Given the description of an element on the screen output the (x, y) to click on. 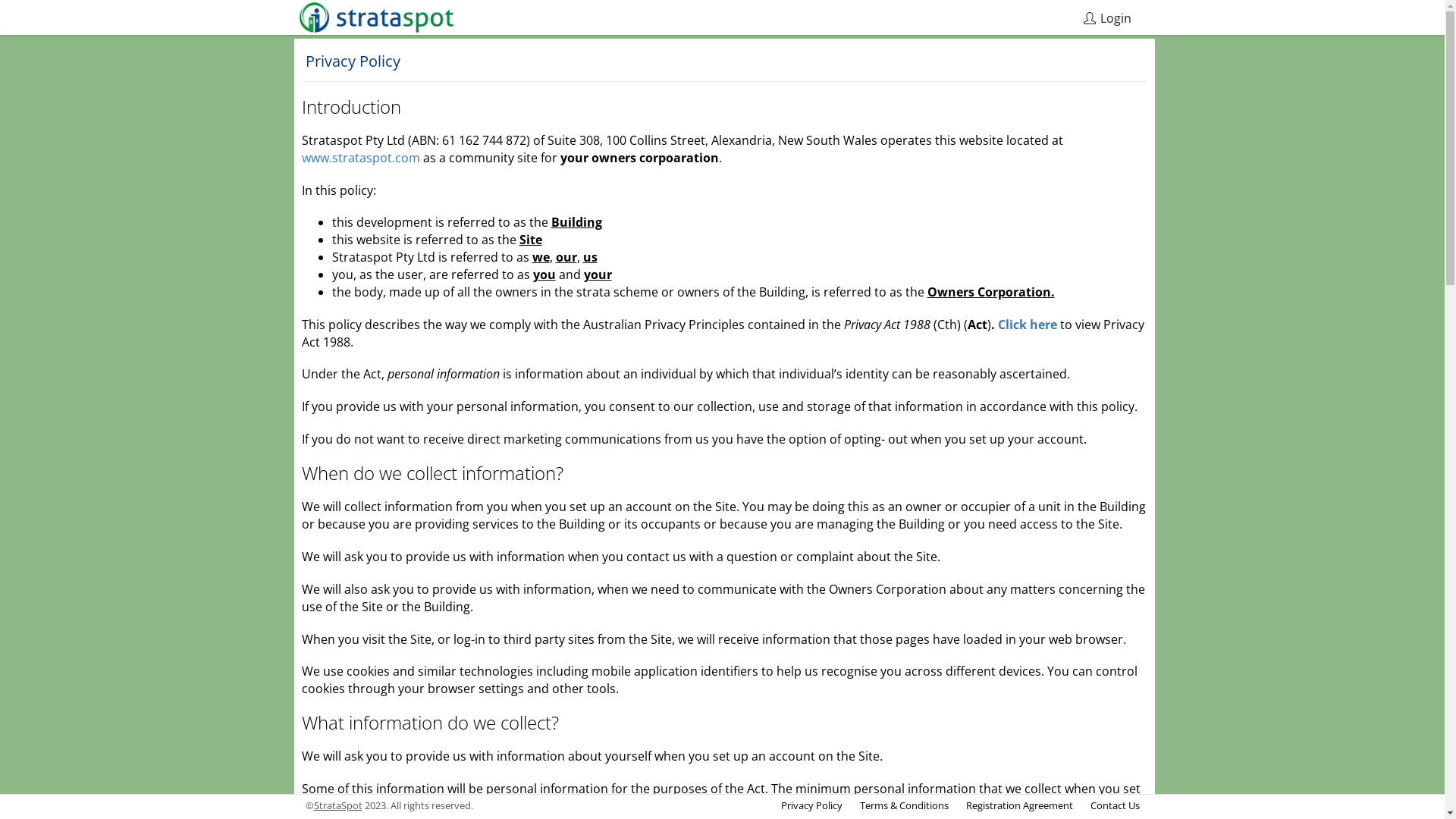
Login Element type: text (1105, 17)
StrataSpot Element type: text (337, 805)
Privacy Policy Element type: text (811, 805)
Contact Us Element type: text (1114, 805)
www.strataspot.com Element type: text (360, 157)
Registration Agreement Element type: text (1019, 805)
Terms & Conditions Element type: text (903, 805)
Click here Element type: text (1027, 324)
